Given the description of an element on the screen output the (x, y) to click on. 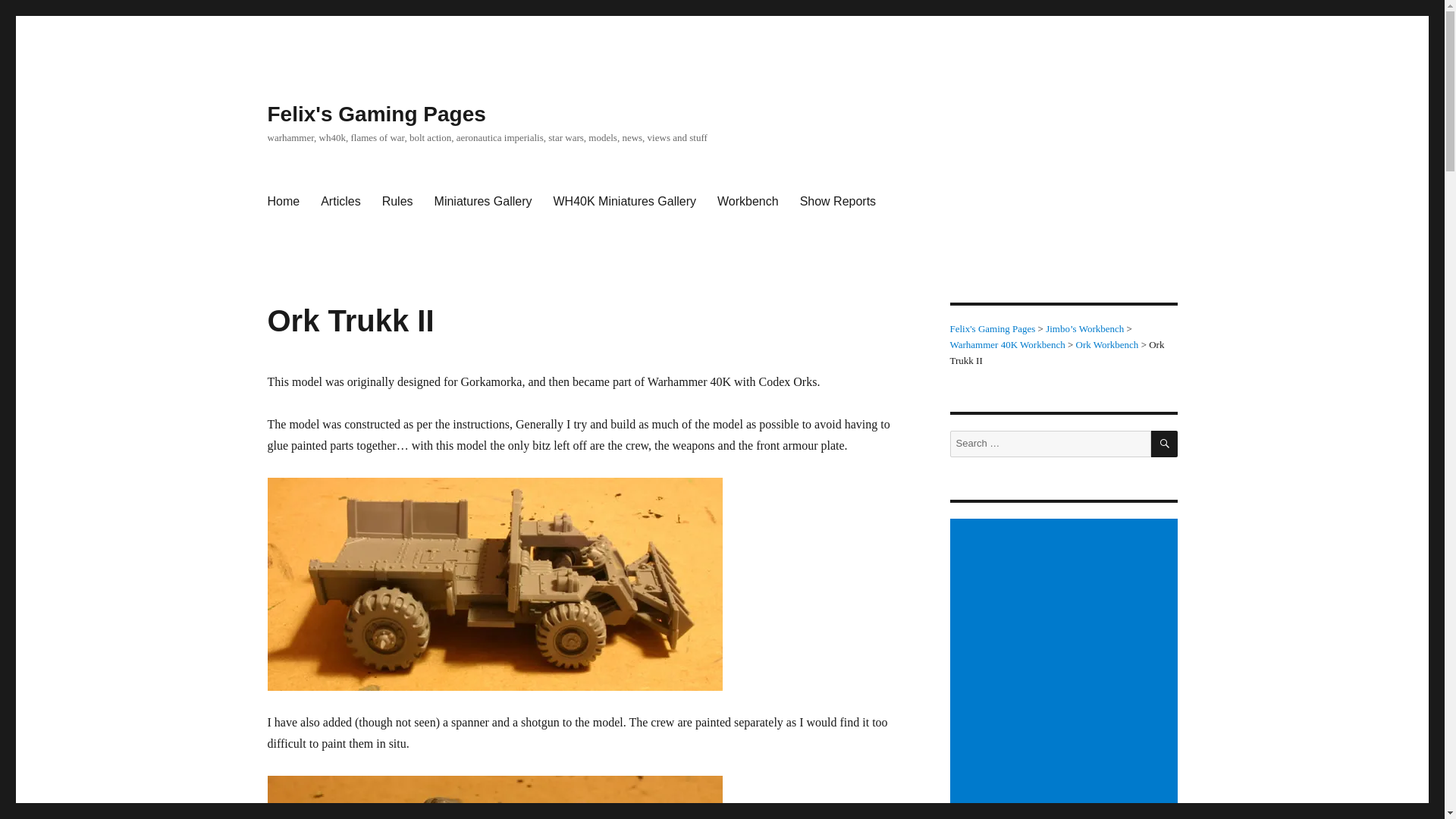
Go to Warhammer 40K Workbench. (1006, 344)
Felix's Gaming Pages (375, 114)
Home (283, 201)
Go to Felix's Gaming Pages. (992, 328)
Go to Ork Workbench. (1106, 344)
WH40K Miniatures Gallery (623, 201)
Warhammer 40K Workbench (1006, 344)
Show Reports (837, 201)
Miniatures Gallery (483, 201)
Workbench (747, 201)
Ork Workbench (1106, 344)
Felix's Gaming Pages (992, 328)
Articles (340, 201)
SEARCH (1164, 443)
Rules (397, 201)
